Given the description of an element on the screen output the (x, y) to click on. 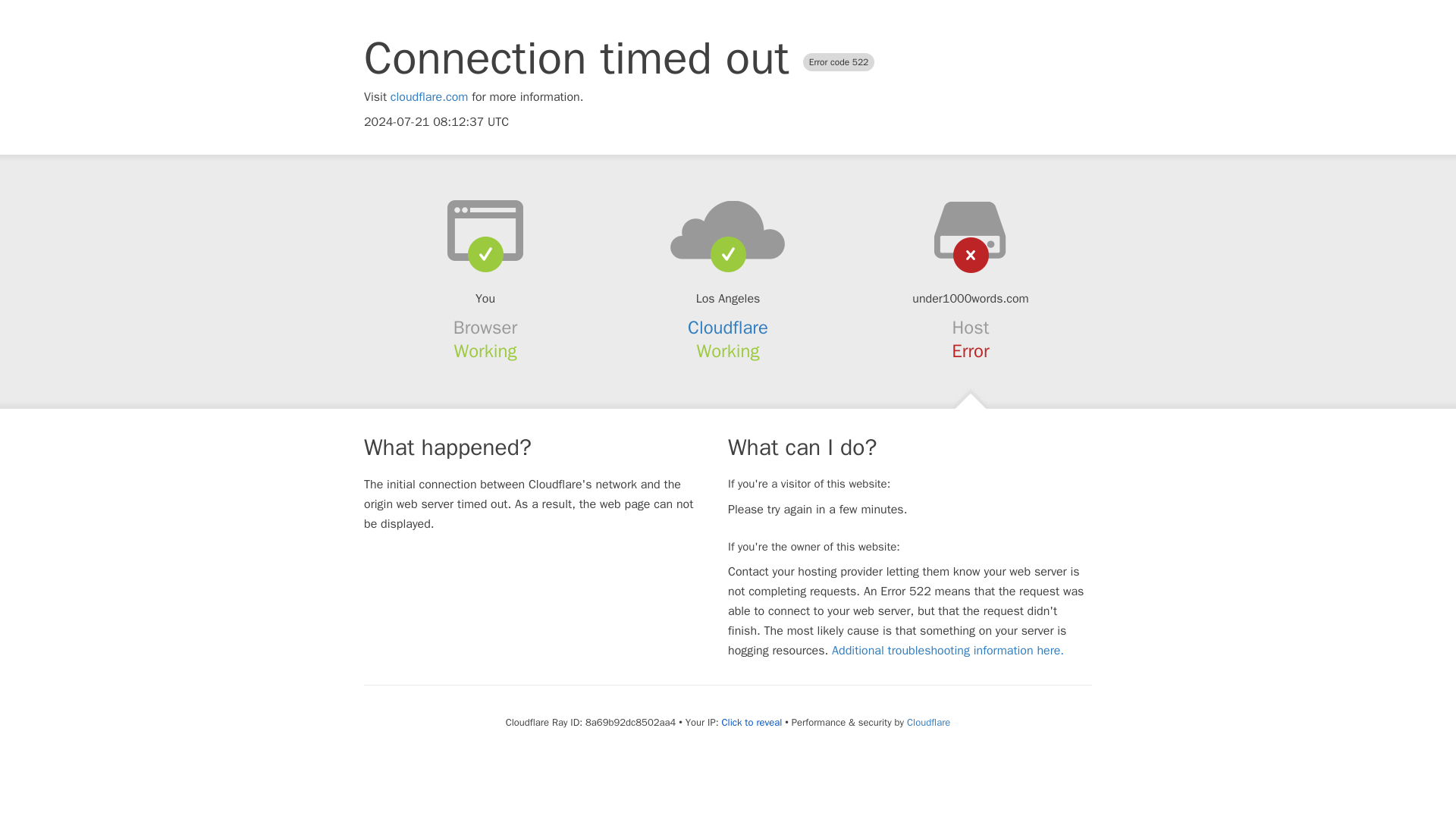
Additional troubleshooting information here. (947, 650)
Cloudflare (727, 327)
Click to reveal (750, 722)
cloudflare.com (429, 96)
Cloudflare (928, 721)
